Given the description of an element on the screen output the (x, y) to click on. 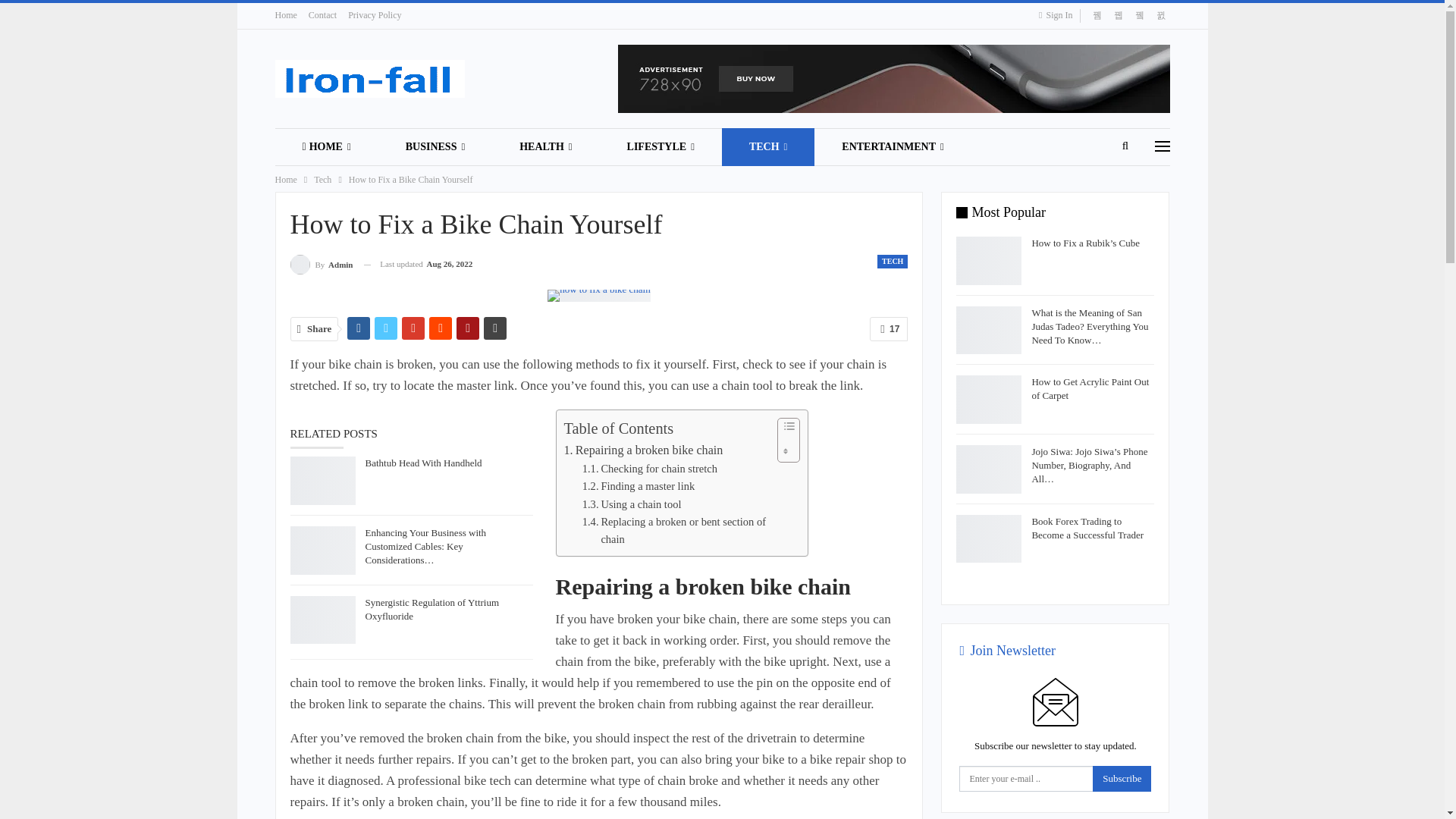
Synergistic Regulation of Yttrium Oxyfluoride (322, 620)
HEALTH (545, 146)
Replacing a broken or bent section of chain (676, 530)
Privacy Policy (374, 14)
LIFESTYLE (660, 146)
Home (286, 14)
Browse Author Articles (320, 263)
Using a chain tool (631, 504)
Repairing a broken bike chain (643, 450)
Bathtub Head With Handheld (322, 480)
BUSINESS (435, 146)
Contact (322, 14)
HOME (326, 146)
Checking for chain stretch (649, 468)
